Given the description of an element on the screen output the (x, y) to click on. 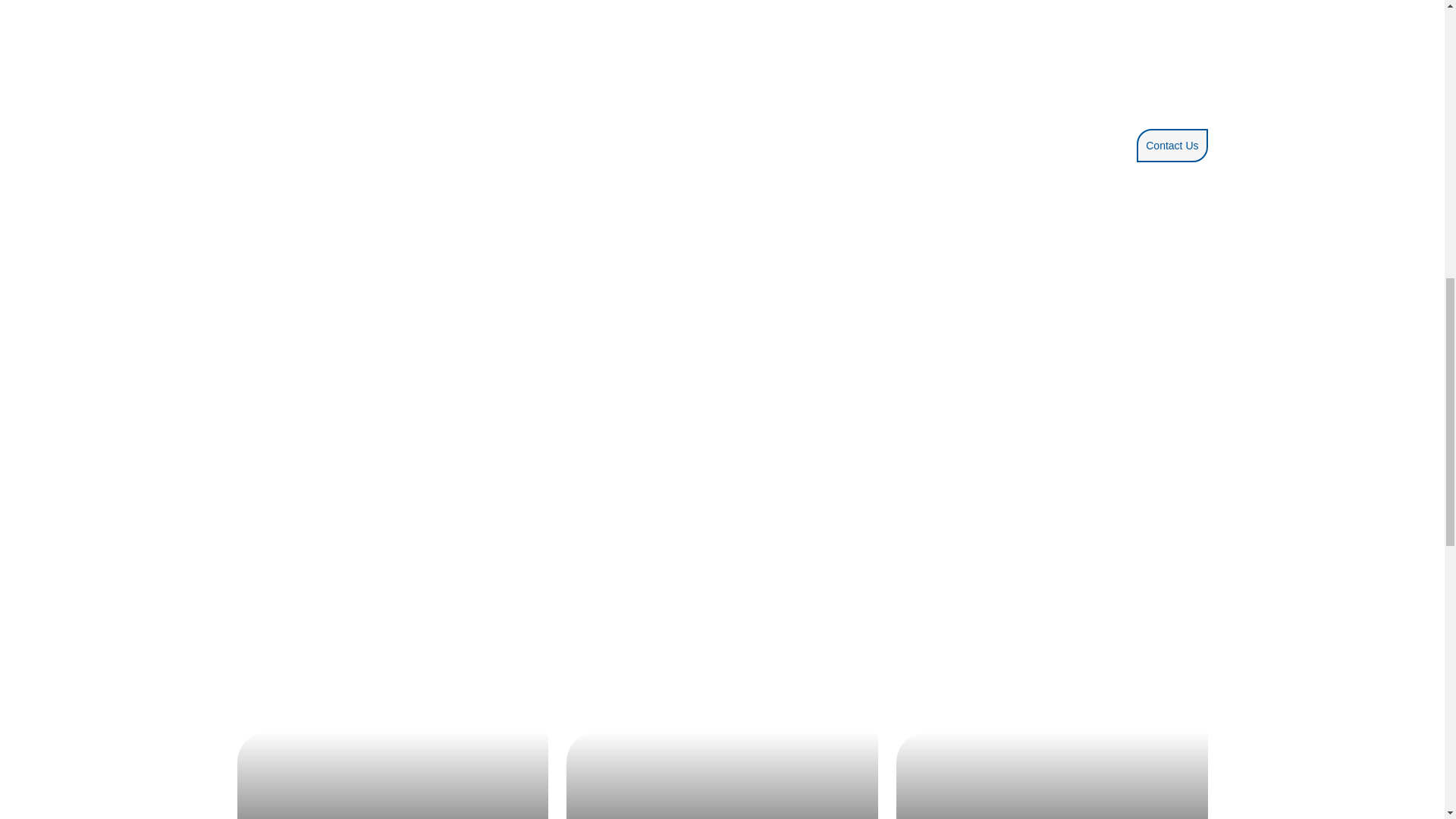
Leadership Team (1052, 775)
About IHI Asia Pacific Pte. Ltd. (721, 775)
About IHI Corporation (391, 775)
